Given the description of an element on the screen output the (x, y) to click on. 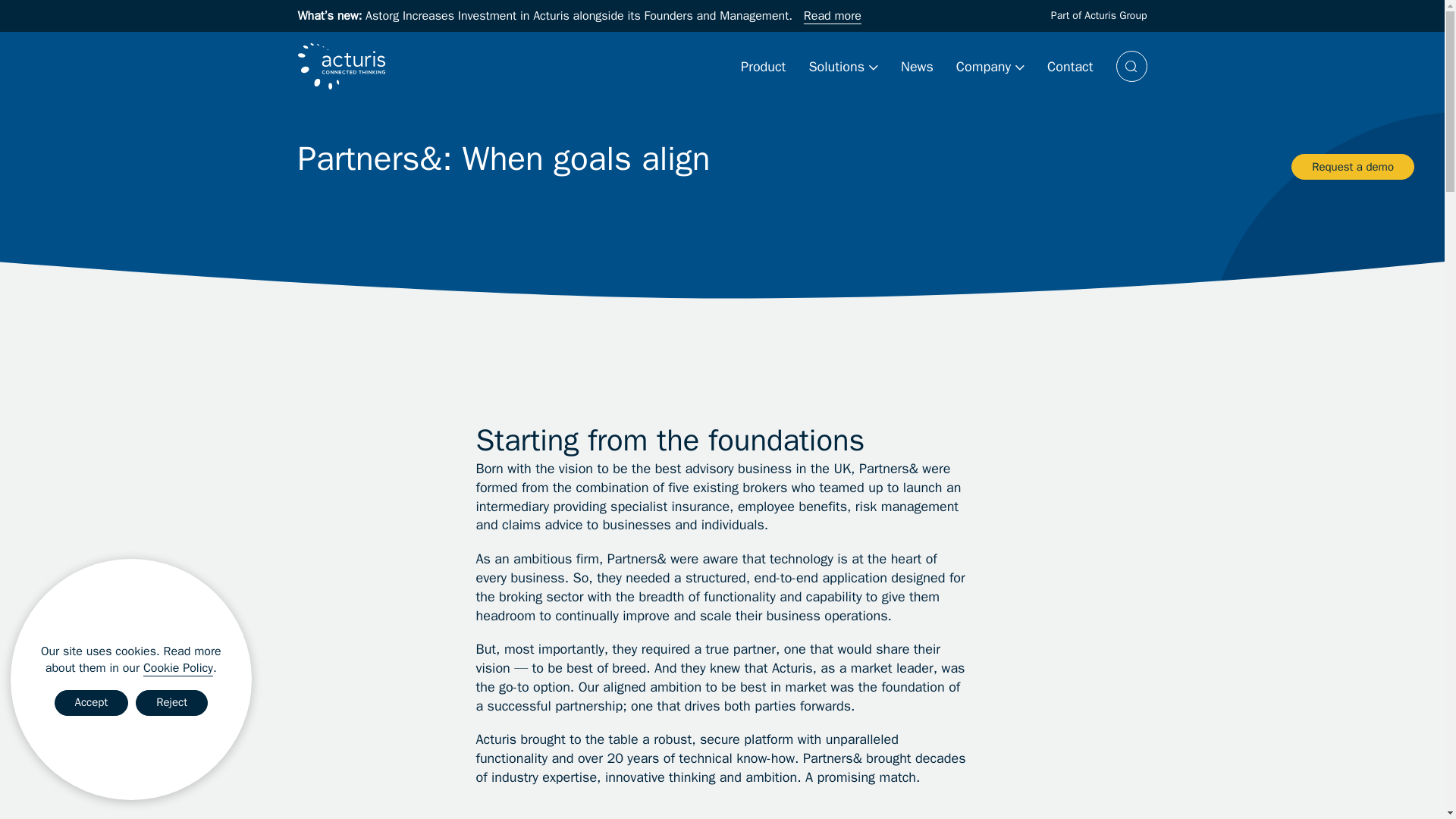
Reject (171, 702)
Contact (1069, 66)
Part of Acturis Group (1099, 15)
Search (1131, 65)
Cookie Policy (177, 667)
Request a demo (1352, 166)
Product (763, 66)
Read more (832, 15)
Accept (92, 702)
Solutions (842, 66)
